Given the description of an element on the screen output the (x, y) to click on. 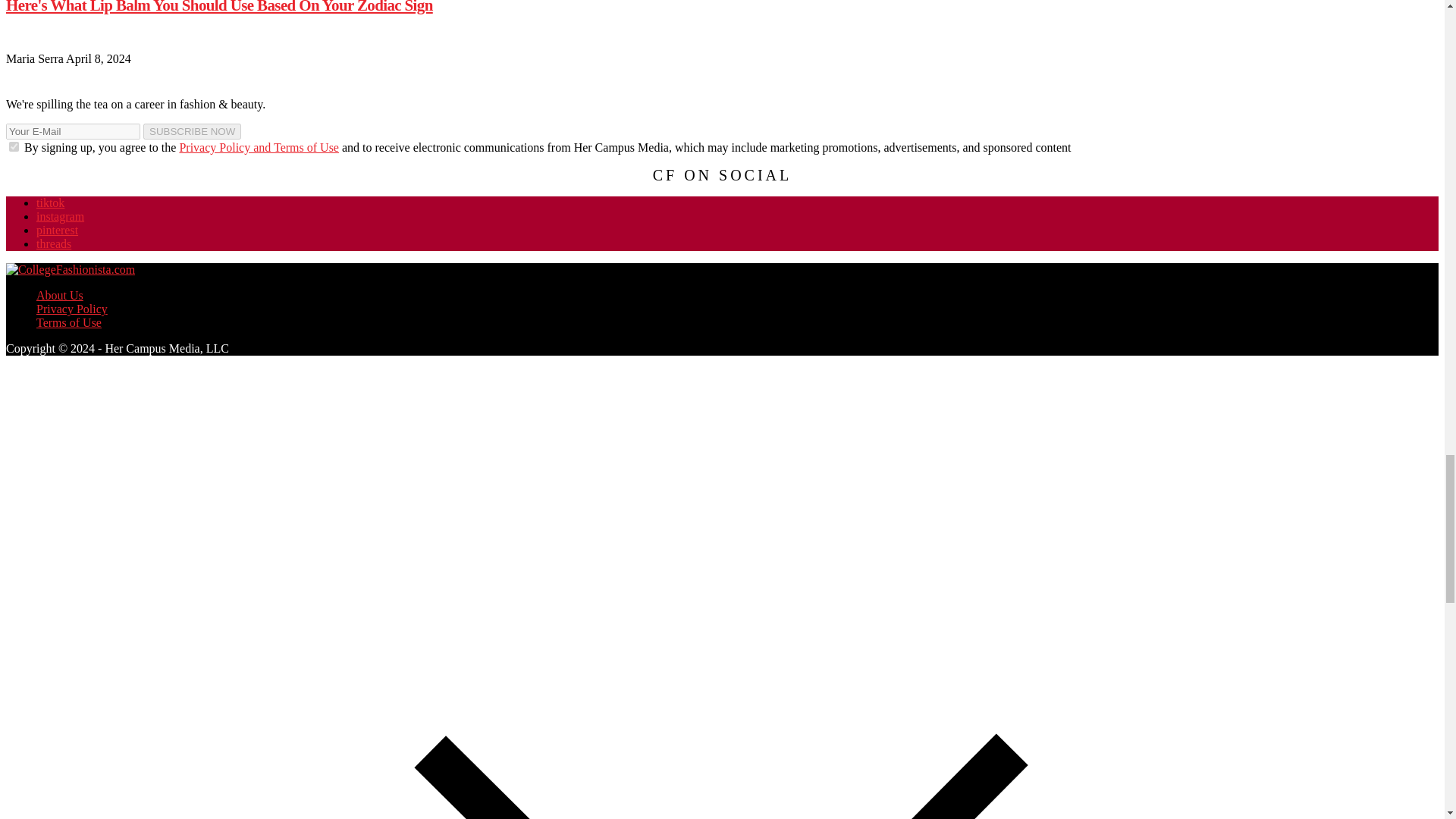
on (13, 146)
